Given the description of an element on the screen output the (x, y) to click on. 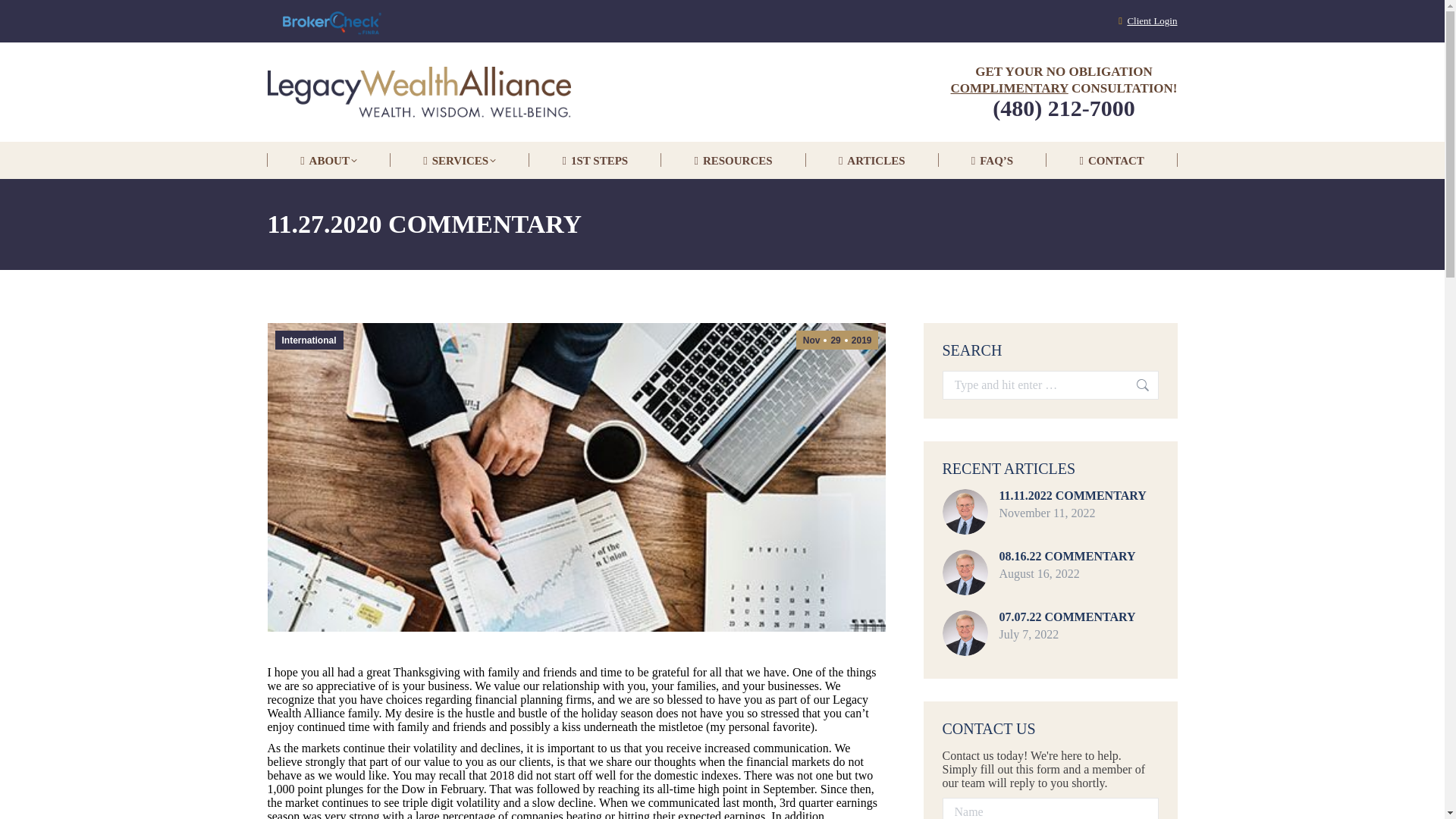
RESOURCES (732, 160)
Go! (1135, 385)
Go! (1135, 385)
1ST STEPS (594, 160)
ABOUT (327, 160)
Client Login (1151, 20)
SERVICES (459, 160)
5:12 pm (836, 339)
ARTICLES (871, 160)
